Given the description of an element on the screen output the (x, y) to click on. 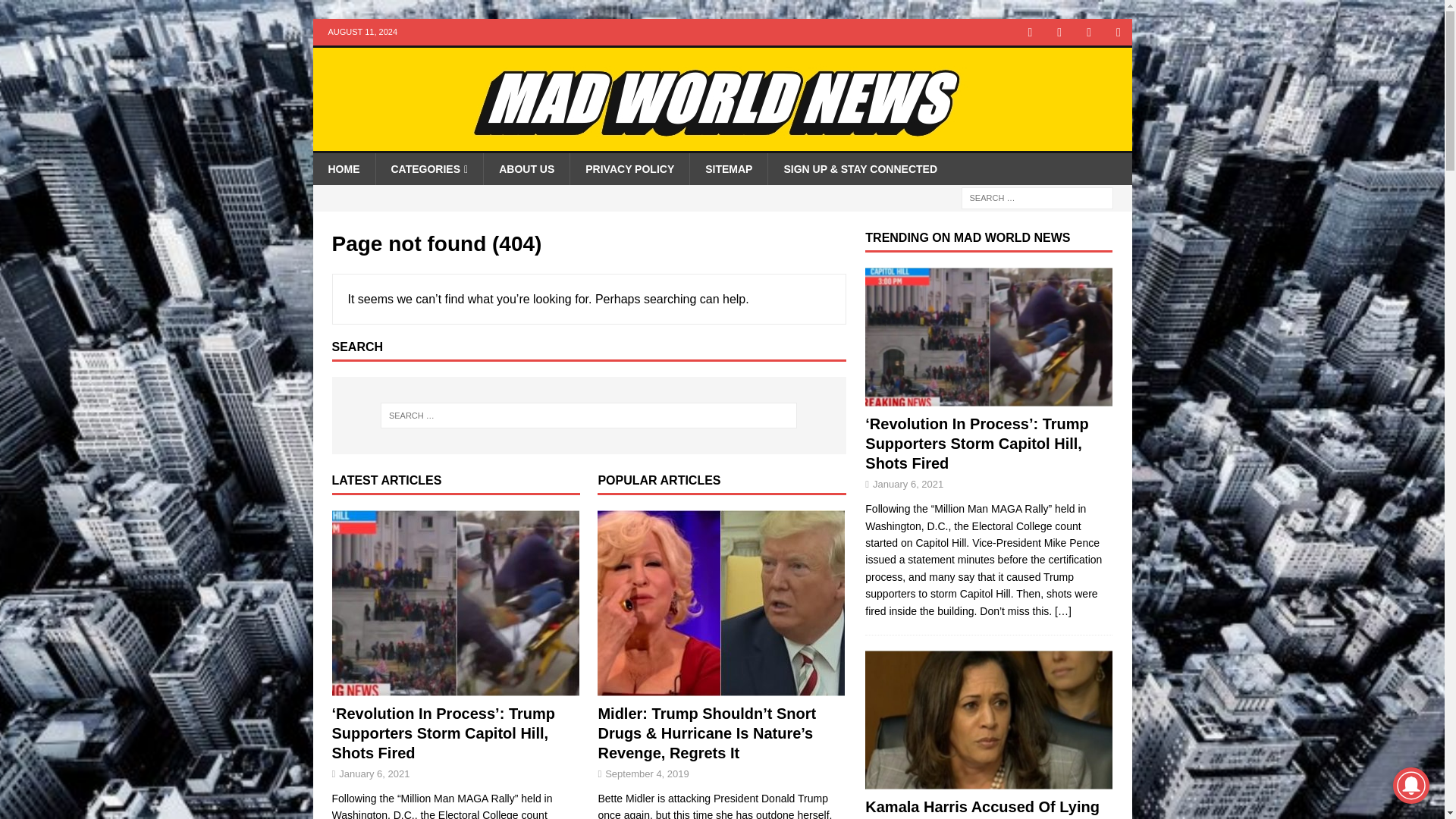
Mad World News (722, 144)
MeWe (1029, 31)
HOME (343, 169)
PRIVACY POLICY (628, 169)
RSS (1118, 31)
ABOUT US (526, 169)
Pinterest (1088, 31)
SITEMAP (727, 169)
January 6, 2021 (374, 773)
Twitter (1059, 31)
